Given the description of an element on the screen output the (x, y) to click on. 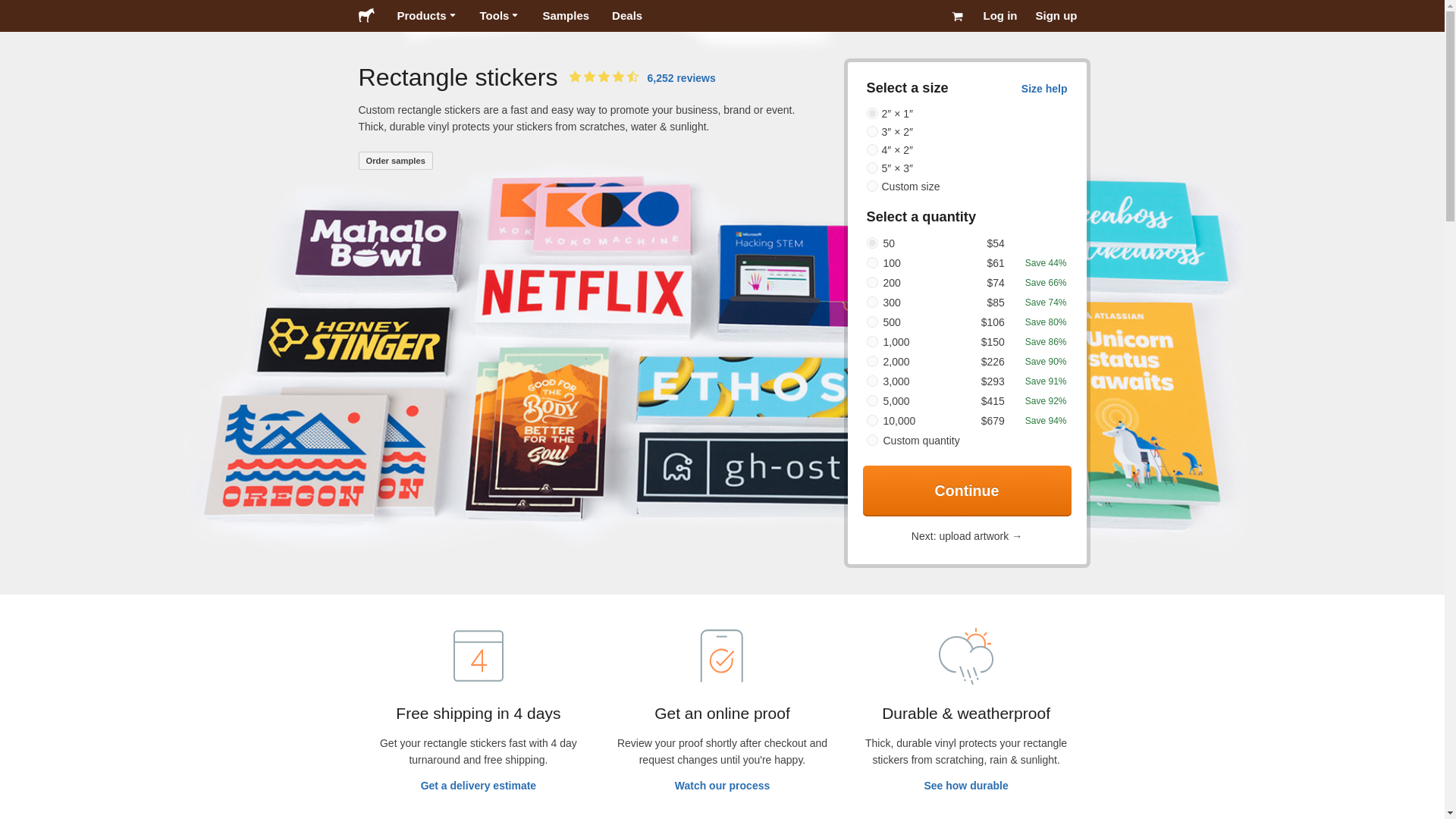
on (871, 400)
on (871, 262)
Deals (626, 15)
Return to the homepage (366, 14)
on (871, 242)
on (871, 301)
on (871, 380)
on (871, 282)
Cart (957, 15)
on (871, 341)
on (871, 149)
on (871, 419)
on (871, 439)
on (871, 167)
on (871, 131)
